Given the description of an element on the screen output the (x, y) to click on. 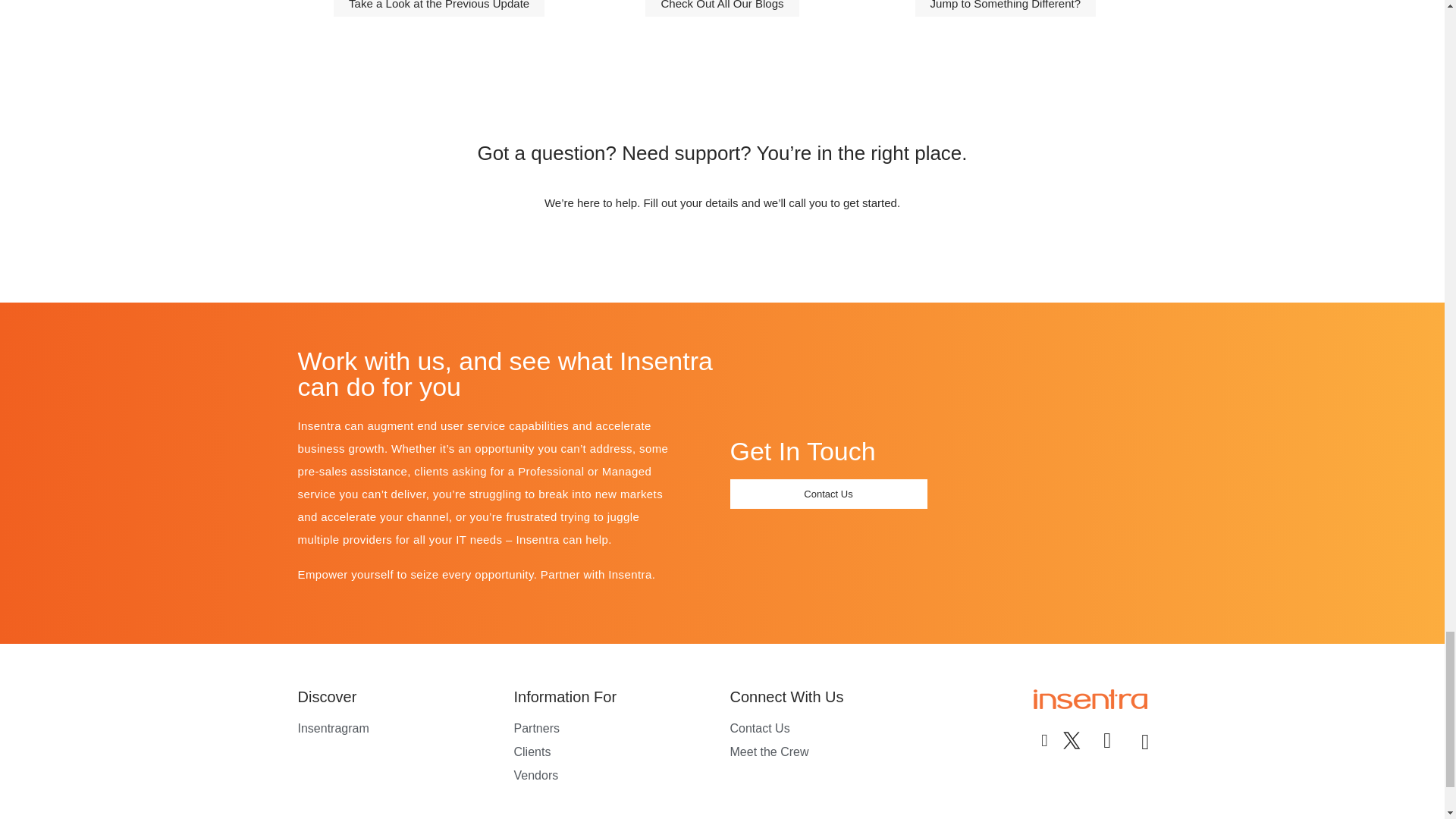
Contact Us (829, 728)
cropped-insentra-logo.png (1089, 699)
Vendors (613, 775)
Partners (613, 728)
Take a Look at the Previous Update (438, 8)
Contact Us (827, 493)
Insentragram (397, 728)
Check Out All Our Blogs (721, 8)
Clients (613, 751)
Jump to Something Different? (1005, 8)
